Given the description of an element on the screen output the (x, y) to click on. 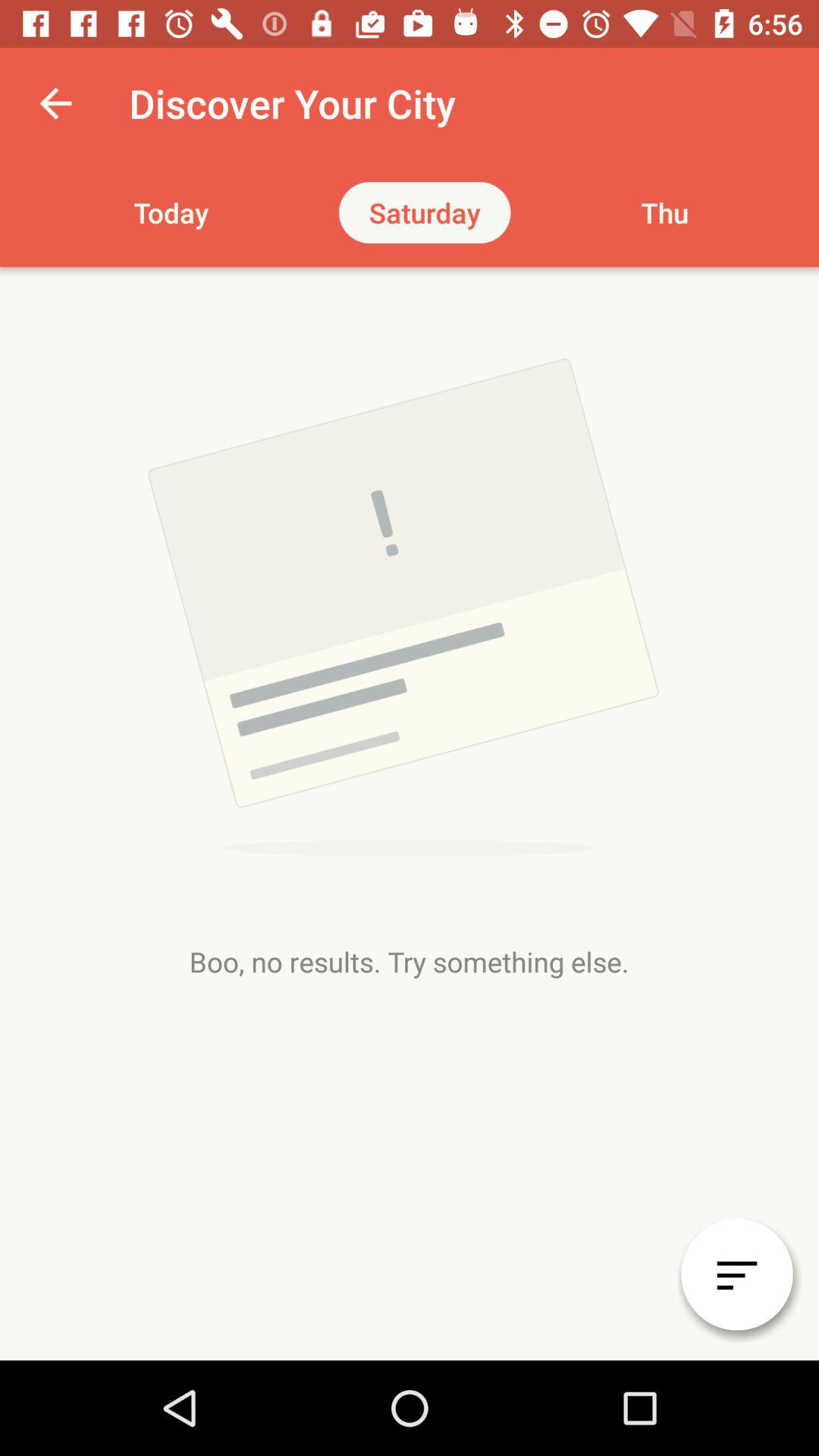
turn on the item above the today icon (55, 103)
